Given the description of an element on the screen output the (x, y) to click on. 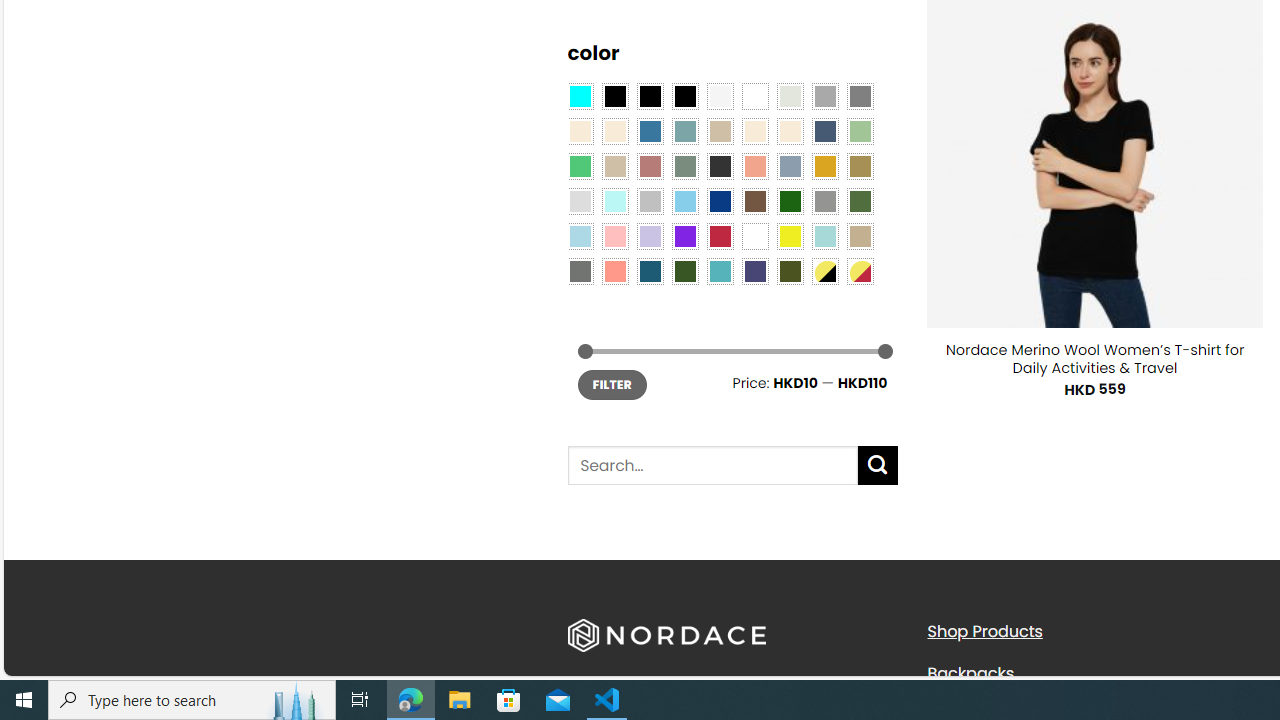
Submit (877, 465)
Dusty Blue (789, 165)
Brown (755, 200)
Charcoal (719, 165)
Yellow-Black (824, 270)
Backpacks (1092, 673)
Ash Gray (789, 95)
Aqua Blue (579, 95)
Cream (789, 131)
Light Purple (650, 236)
Search for: (712, 465)
Blue Sage (684, 131)
Army Green (789, 270)
Gold (824, 165)
Mint (614, 200)
